Given the description of an element on the screen output the (x, y) to click on. 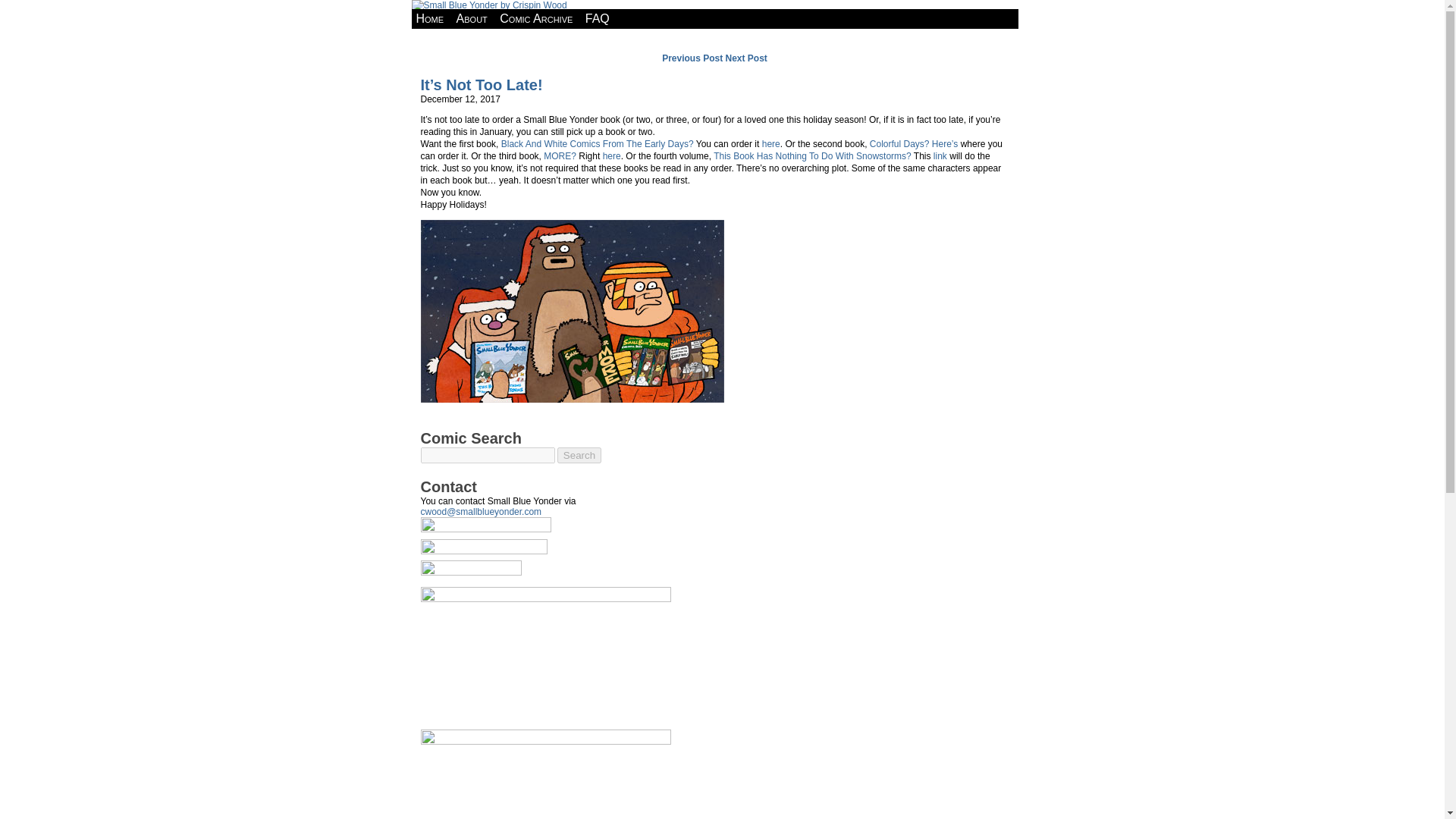
here (611, 155)
Search (579, 455)
Previous Post (692, 58)
About (472, 18)
Home (429, 18)
Go ahead, clicky clicky (571, 311)
Colorful Days? (899, 143)
Next Post (746, 58)
Comic Archive (535, 18)
link (940, 155)
here (770, 143)
Black And White Comics From The Early Days? (597, 143)
This Book Has Nothing To Do With Snowstorms? (812, 155)
MORE? (559, 155)
FAQ (597, 18)
